Given the description of an element on the screen output the (x, y) to click on. 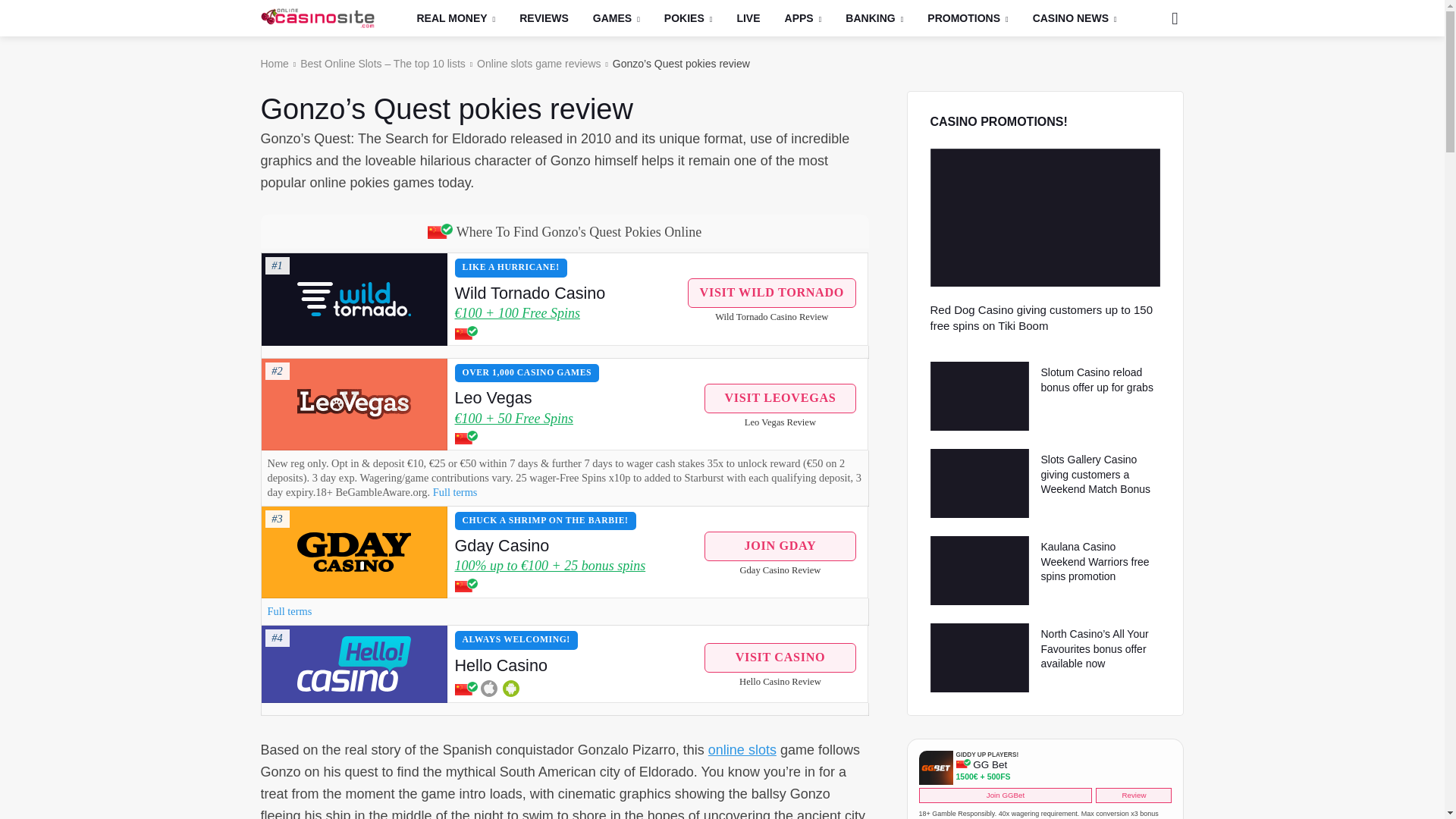
BANKING (873, 18)
Claim bonus at Wild Tornado (566, 313)
Online Casino Sites (317, 17)
Claim bonus at Wild Tornado (353, 298)
Casino Apps (803, 18)
APPS (803, 18)
REAL MONEY (456, 18)
Best Pokies Sites (688, 18)
POKIES (688, 18)
Best Casinos (456, 18)
